Given the description of an element on the screen output the (x, y) to click on. 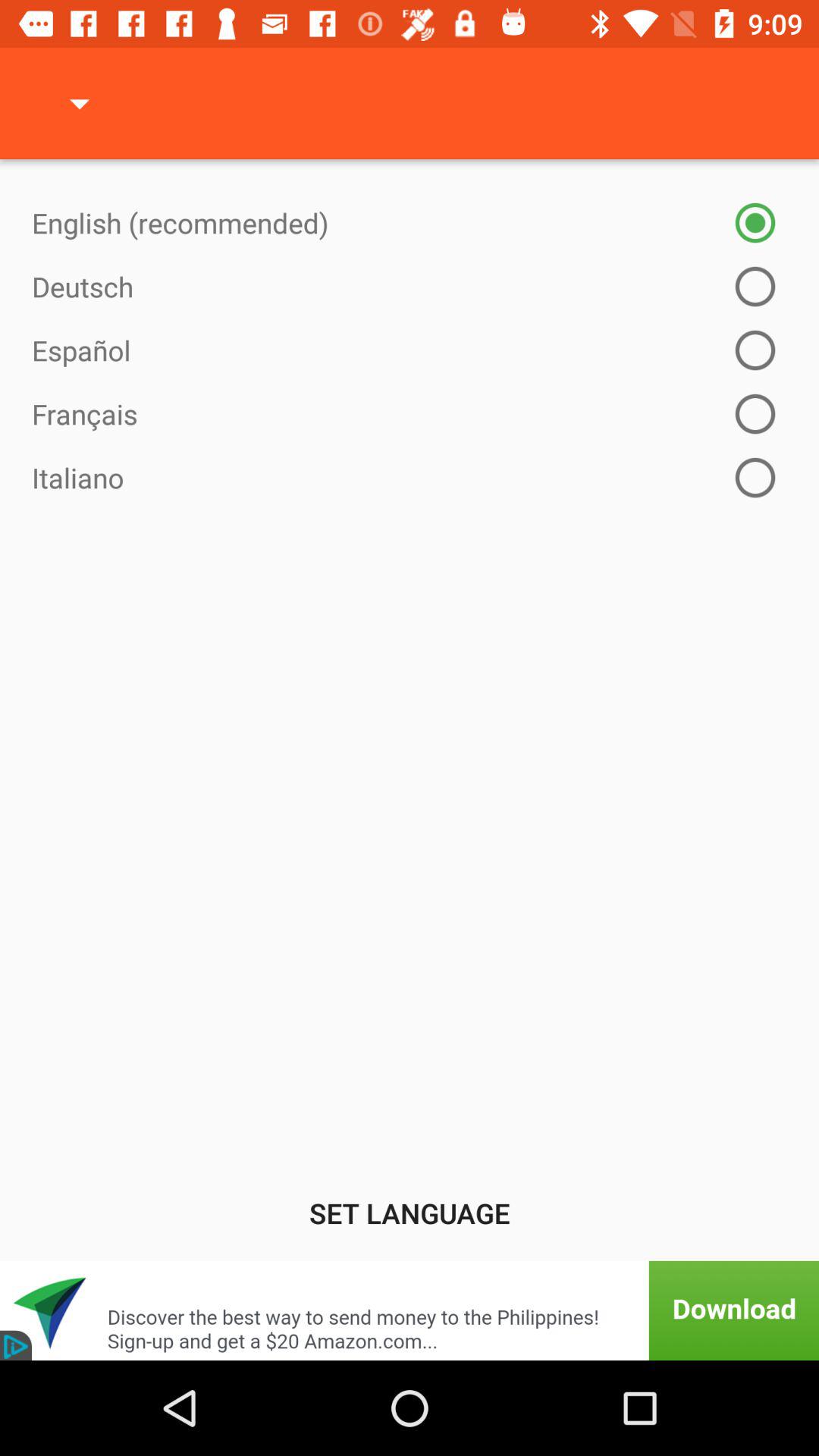
flip to set language item (409, 1212)
